Given the description of an element on the screen output the (x, y) to click on. 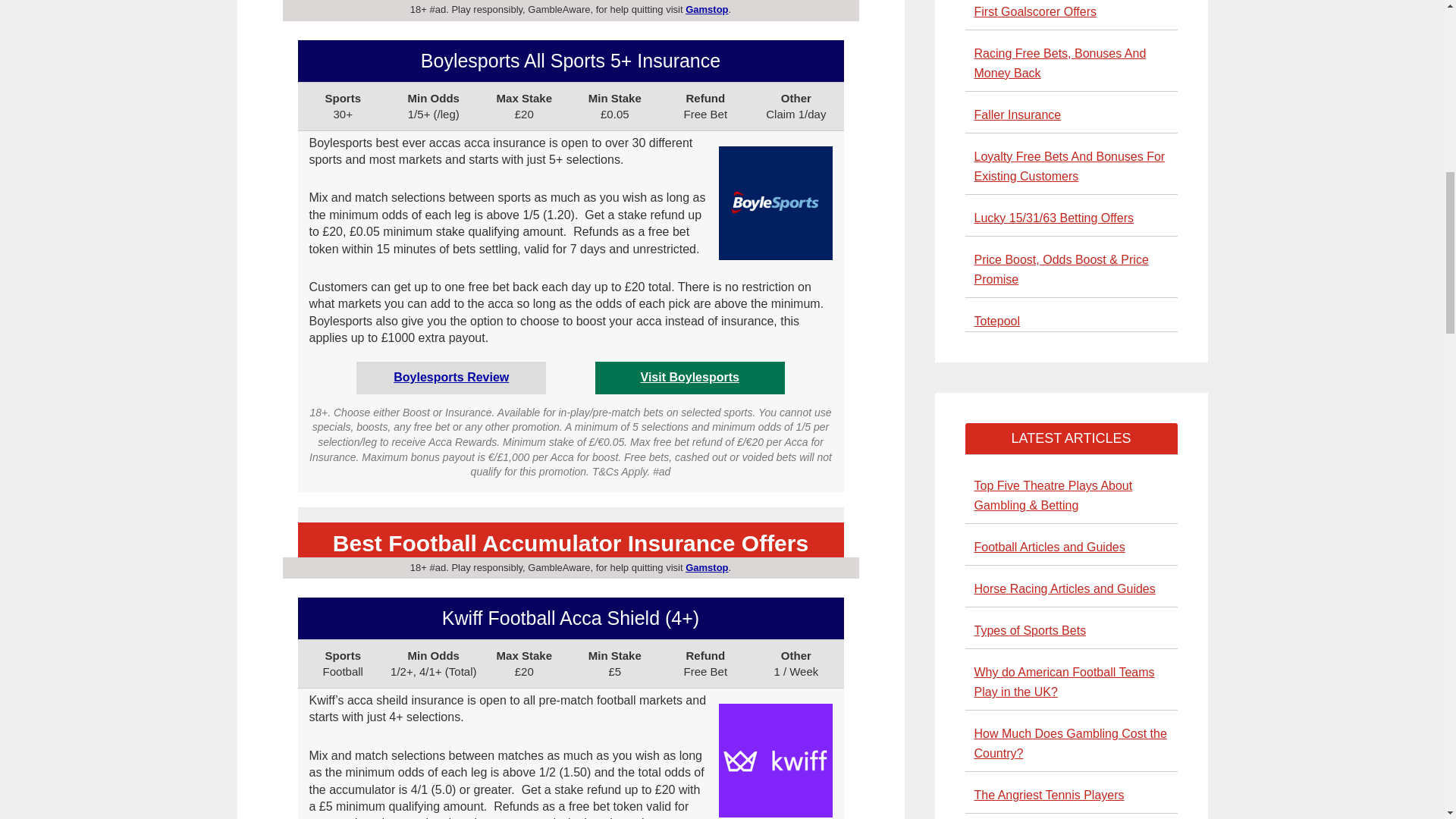
Faller Insurance (1017, 114)
Gamstop (706, 9)
Gamstop (706, 567)
Boylesports Review (450, 377)
First Goalscorer Offers (1035, 11)
Racing Free Bets, Bonuses And Money Back (1059, 62)
Boylesports Review (450, 377)
Visit Boylesports (689, 377)
